Given the description of an element on the screen output the (x, y) to click on. 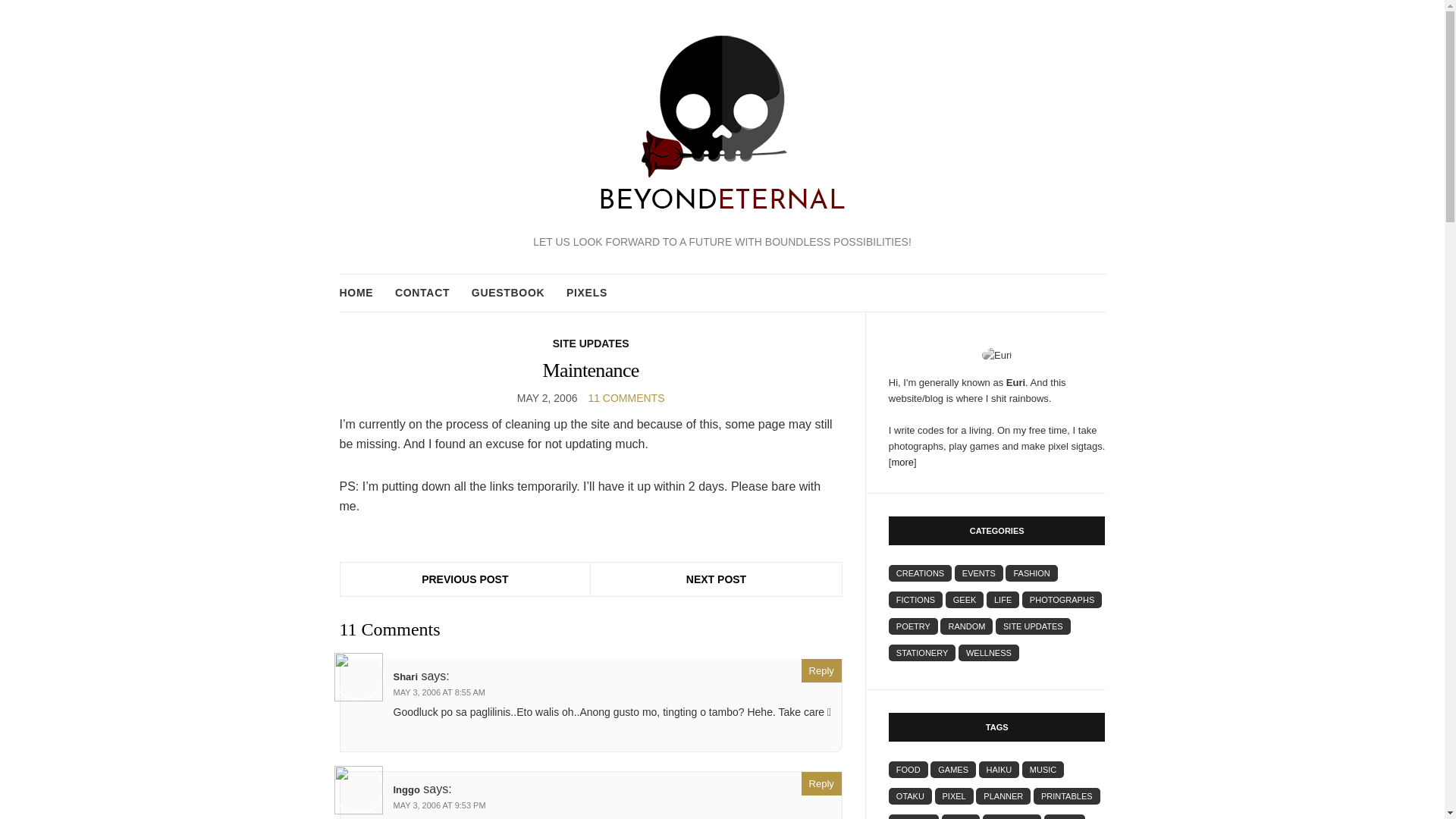
GUESTBOOK (507, 293)
MAY 3, 2006 AT 8:55 AM (438, 691)
Reply (821, 670)
NEXT POST (716, 579)
Reply (821, 783)
Inggo (406, 789)
CONTACT (421, 293)
Shari (405, 676)
11 COMMENTS (625, 398)
MAY 3, 2006 AT 9:53 PM (438, 804)
